Given the description of an element on the screen output the (x, y) to click on. 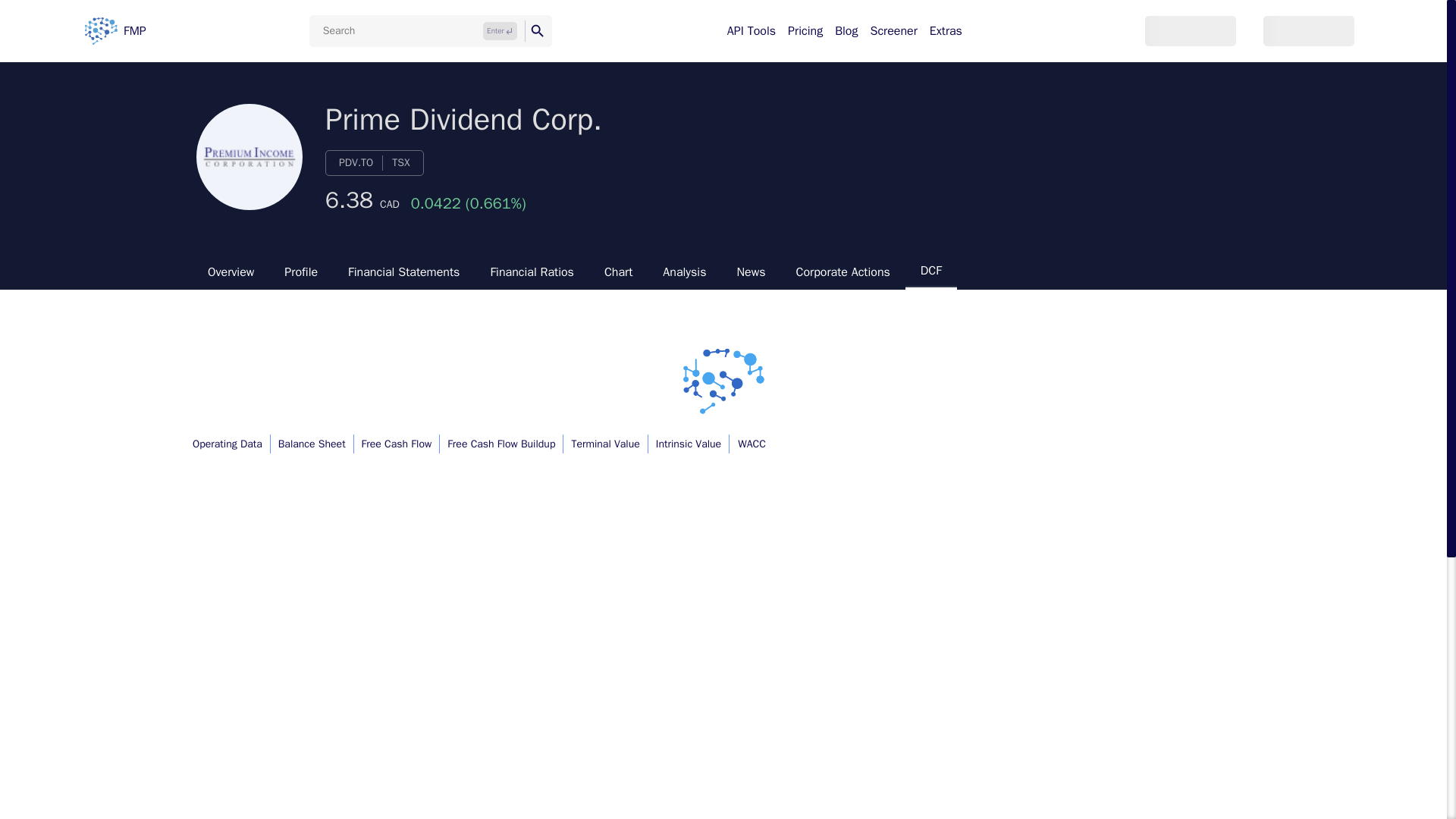
Overview (230, 271)
Pricing (804, 30)
FMP (115, 30)
